Given the description of an element on the screen output the (x, y) to click on. 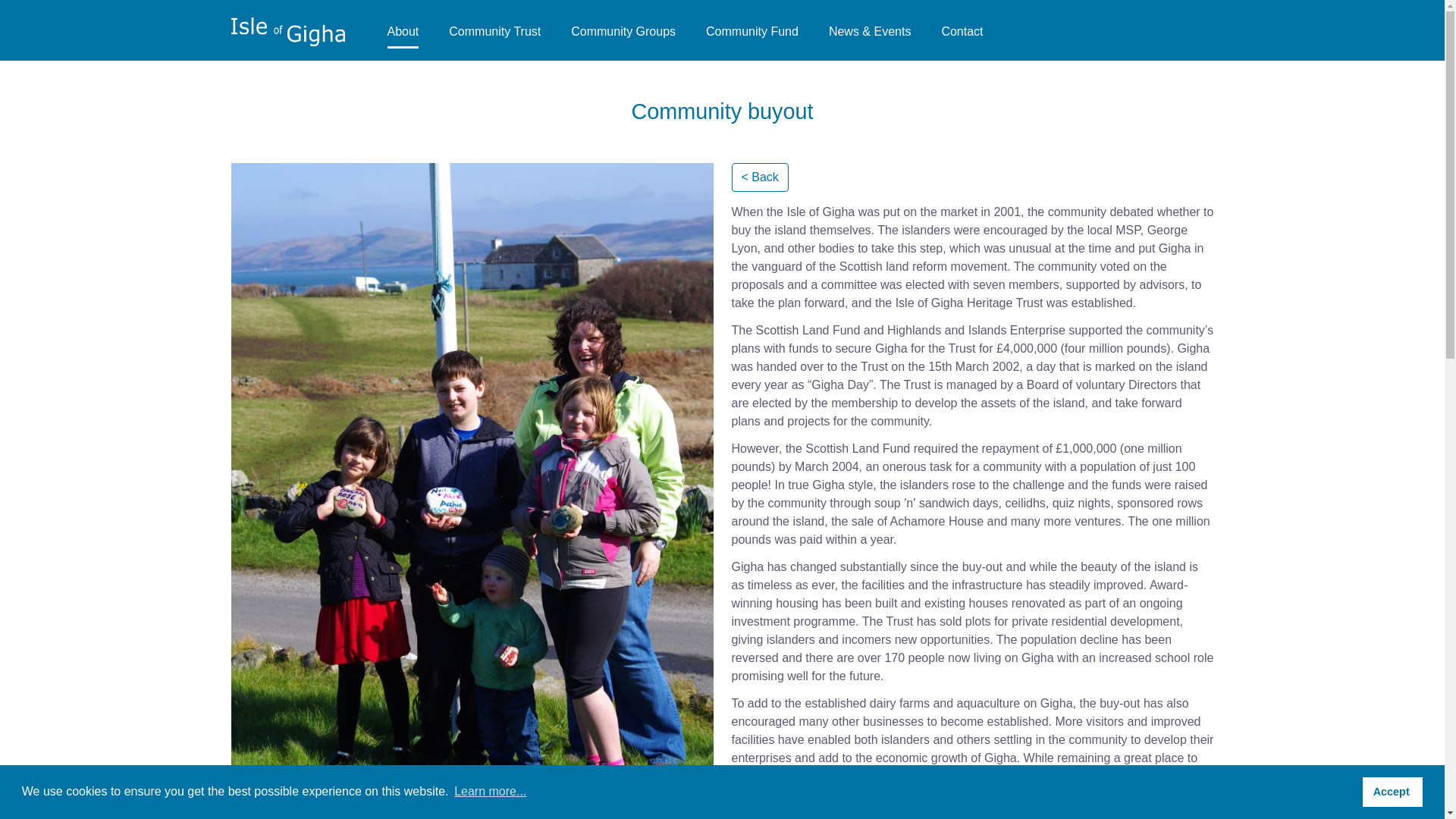
Contact (961, 31)
Community Fund (751, 31)
Learn more... (490, 791)
About (403, 31)
Community Groups (622, 31)
Contact (961, 31)
Accept (1392, 791)
Community Trust (494, 31)
